Given the description of an element on the screen output the (x, y) to click on. 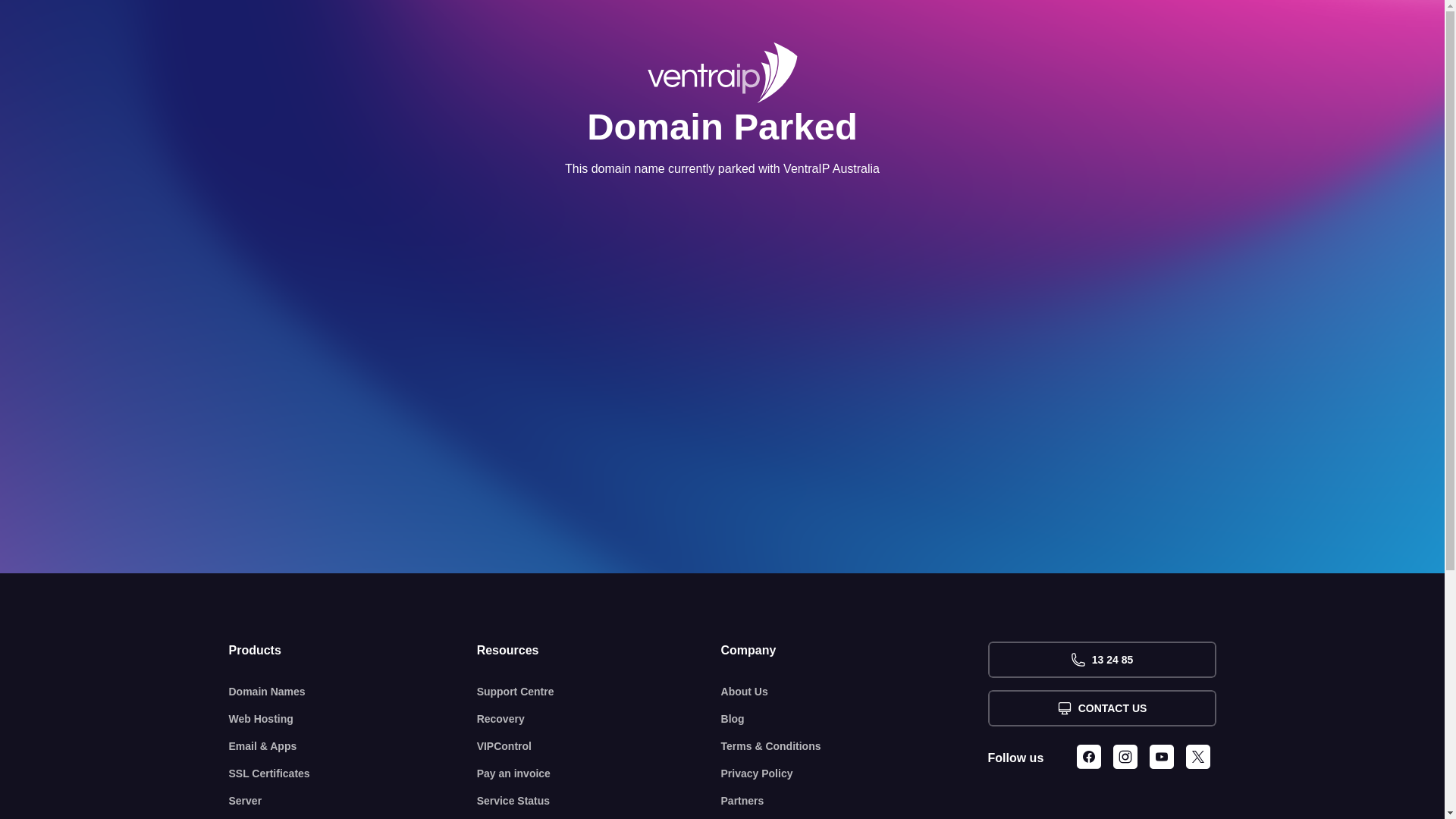
VIPControl Element type: text (598, 745)
SSL Certificates Element type: text (352, 773)
Service Status Element type: text (598, 800)
Pay an invoice Element type: text (598, 773)
Email & Apps Element type: text (352, 745)
Blog Element type: text (854, 718)
Privacy Policy Element type: text (854, 773)
About Us Element type: text (854, 691)
Support Centre Element type: text (598, 691)
Recovery Element type: text (598, 718)
Web Hosting Element type: text (352, 718)
Domain Names Element type: text (352, 691)
Partners Element type: text (854, 800)
CONTACT US Element type: text (1101, 708)
Terms & Conditions Element type: text (854, 745)
Server Element type: text (352, 800)
13 24 85 Element type: text (1101, 659)
